Given the description of an element on the screen output the (x, y) to click on. 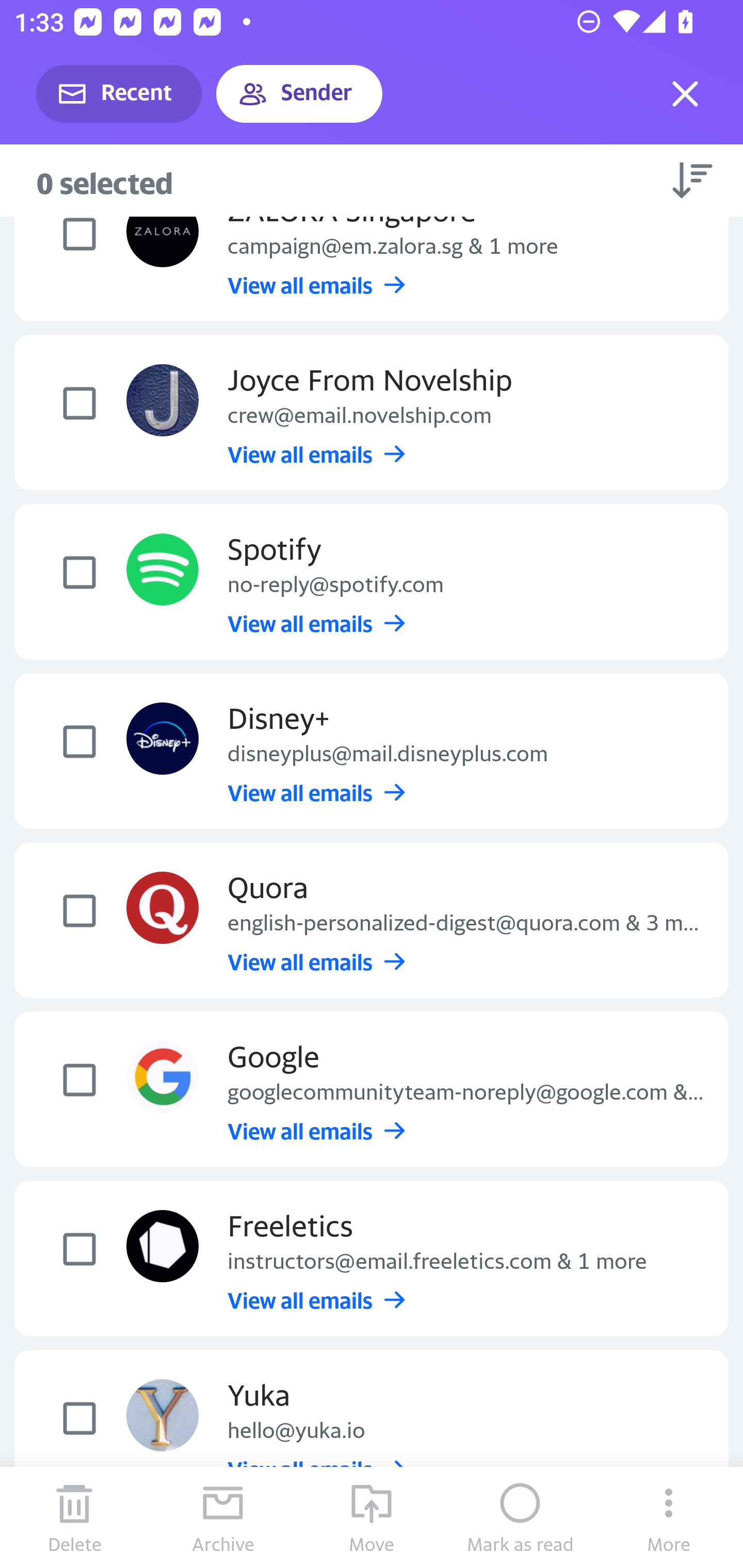
Recent (119, 93)
Exit selection mode (684, 93)
Sort (692, 180)
Spotify no-reply@spotify.com View all emails (371, 581)
Yuka hello@yuka.io View all emails (371, 1427)
Delete (74, 1517)
Archive (222, 1517)
Move (371, 1517)
Mark as read (519, 1517)
More (668, 1517)
